Given the description of an element on the screen output the (x, y) to click on. 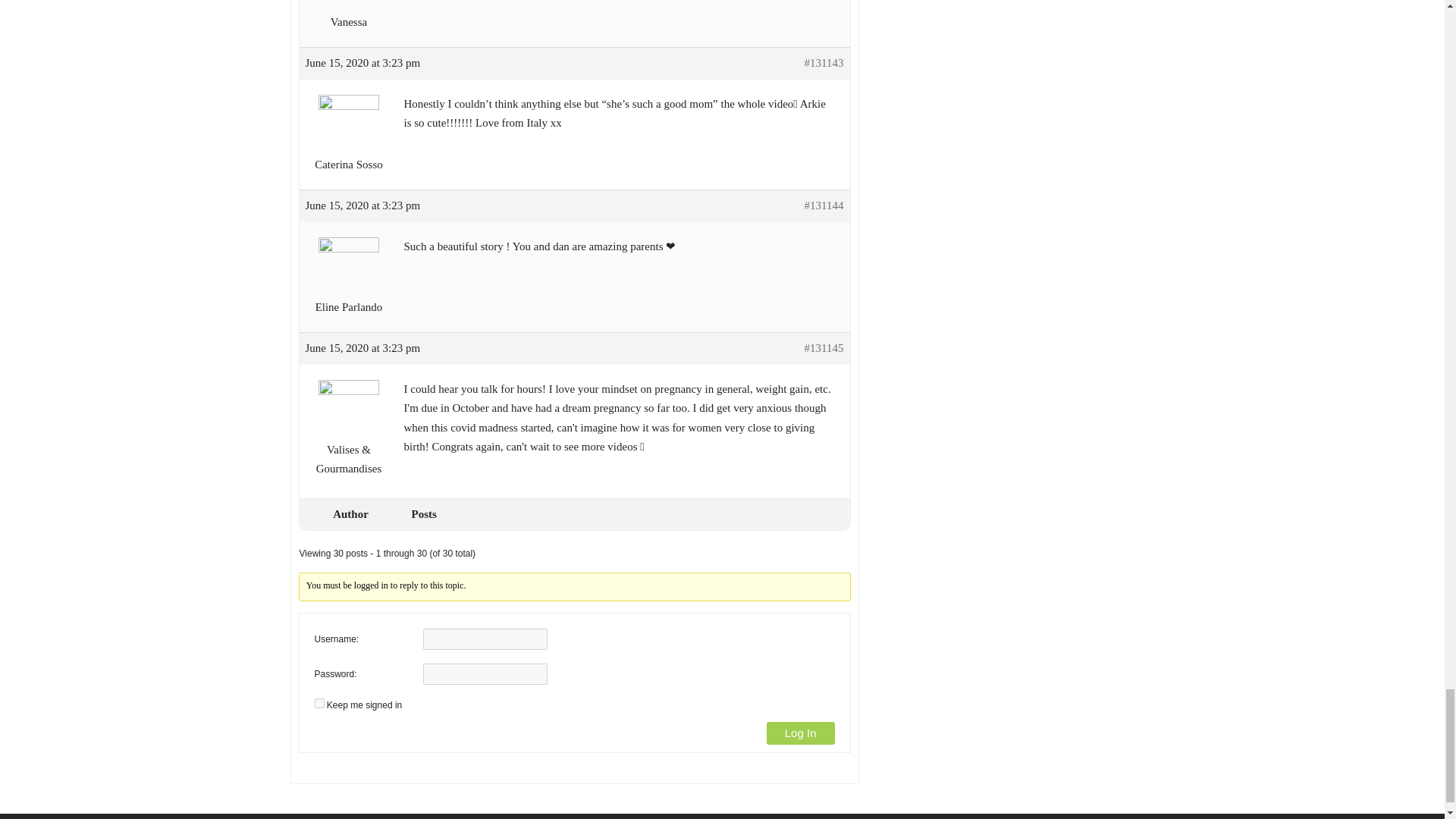
forever (318, 703)
